Given the description of an element on the screen output the (x, y) to click on. 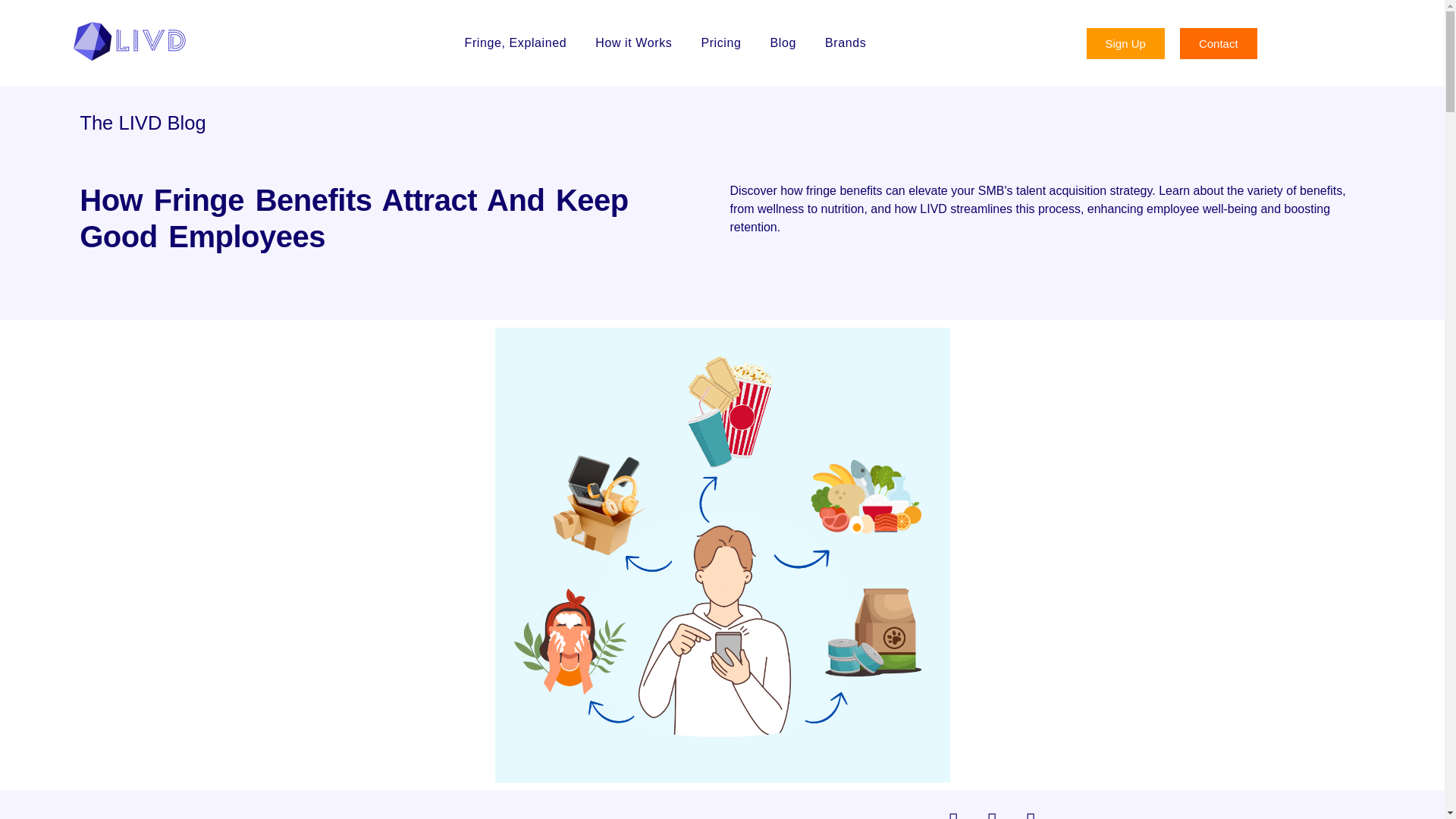
Contact (1218, 42)
Brands (845, 43)
How it Works (634, 43)
Pricing (720, 43)
The LIVD Blog (142, 122)
Blog (782, 43)
Sign Up (1125, 42)
Fringe, Explained (516, 43)
